Given the description of an element on the screen output the (x, y) to click on. 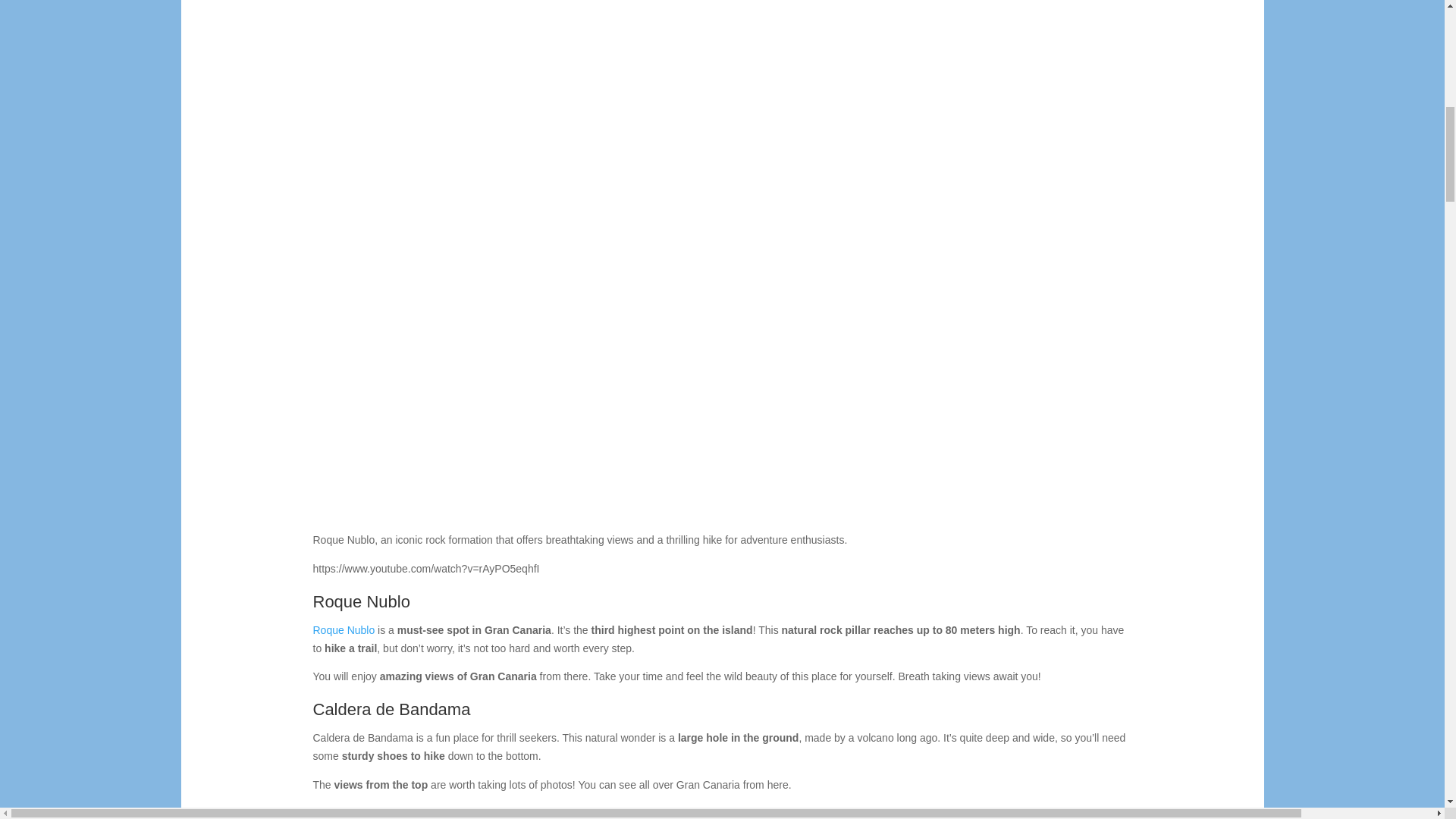
Roque Nublo (343, 630)
